Given the description of an element on the screen output the (x, y) to click on. 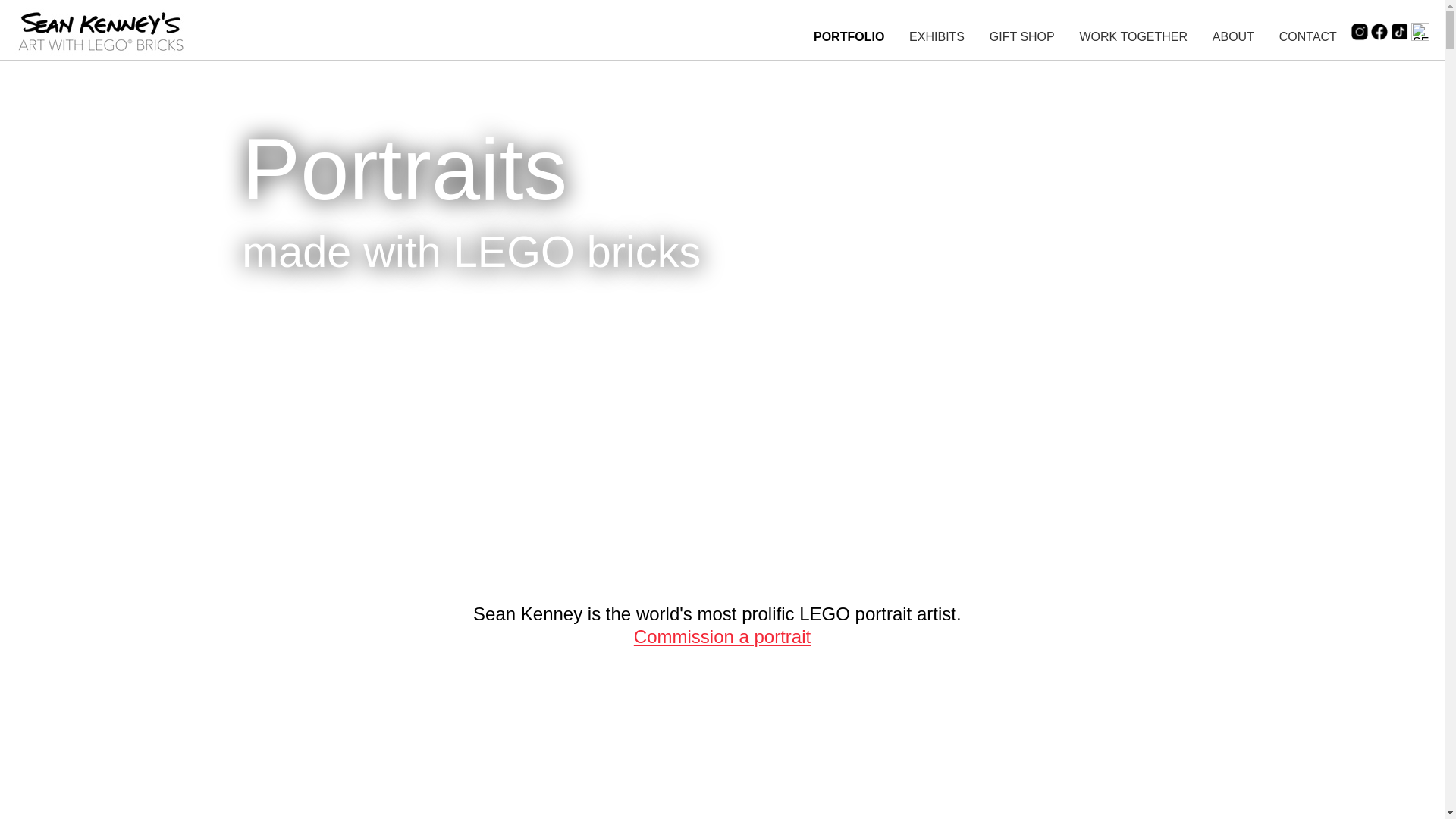
WORK TOGETHER (1134, 36)
ABOUT (1232, 36)
CONTACT (1307, 36)
Commission a portrait (721, 636)
Click to return home (102, 57)
PORTFOLIO (848, 36)
EXHIBITS (935, 36)
GIFT SHOP (1022, 36)
